Given the description of an element on the screen output the (x, y) to click on. 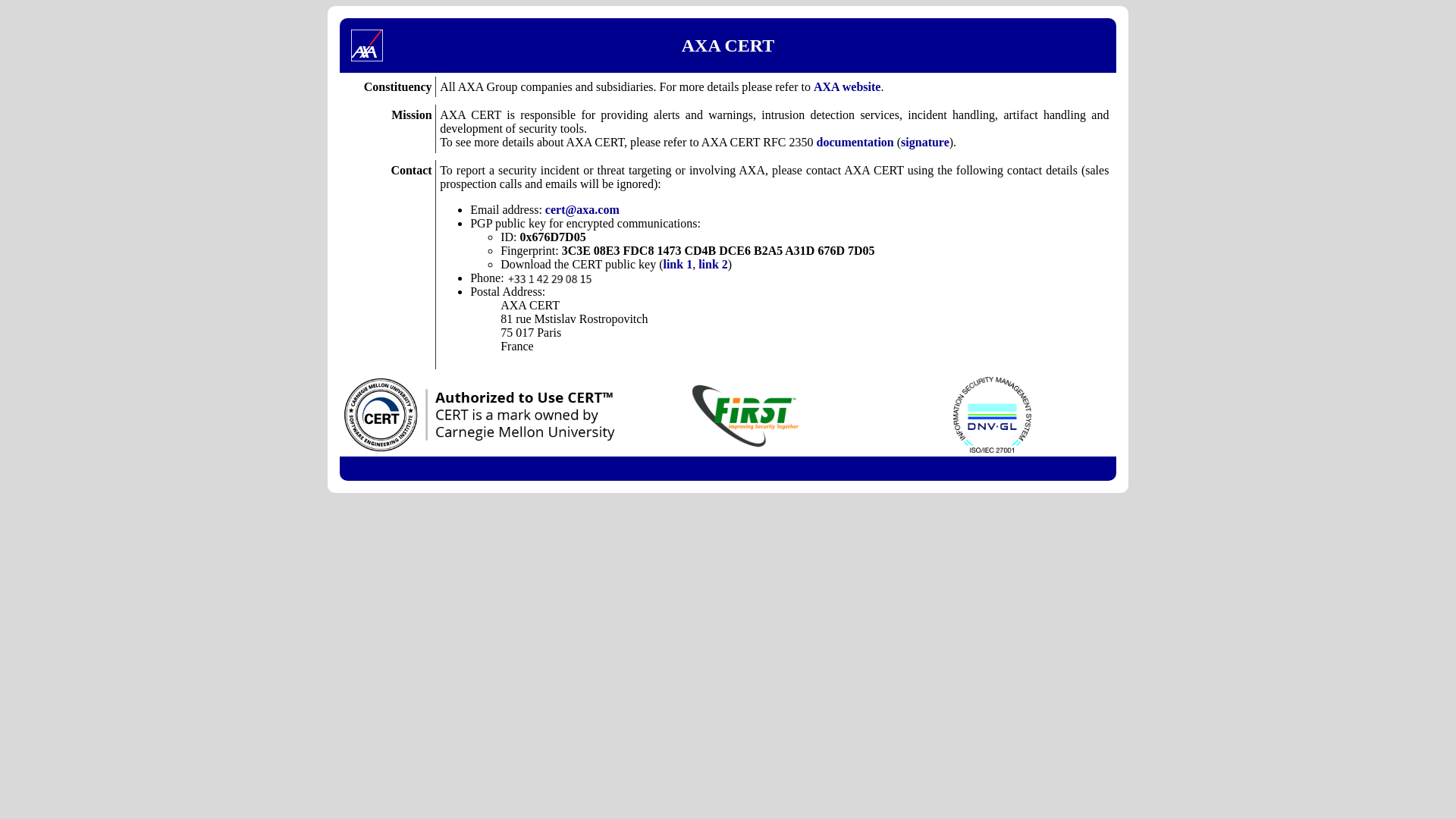
cert@axa.com Element type: text (582, 209)
documentation Element type: text (854, 141)
signature Element type: text (924, 141)
AXA website Element type: text (846, 86)
link 2 Element type: text (713, 263)
link 1 Element type: text (677, 263)
